Given the description of an element on the screen output the (x, y) to click on. 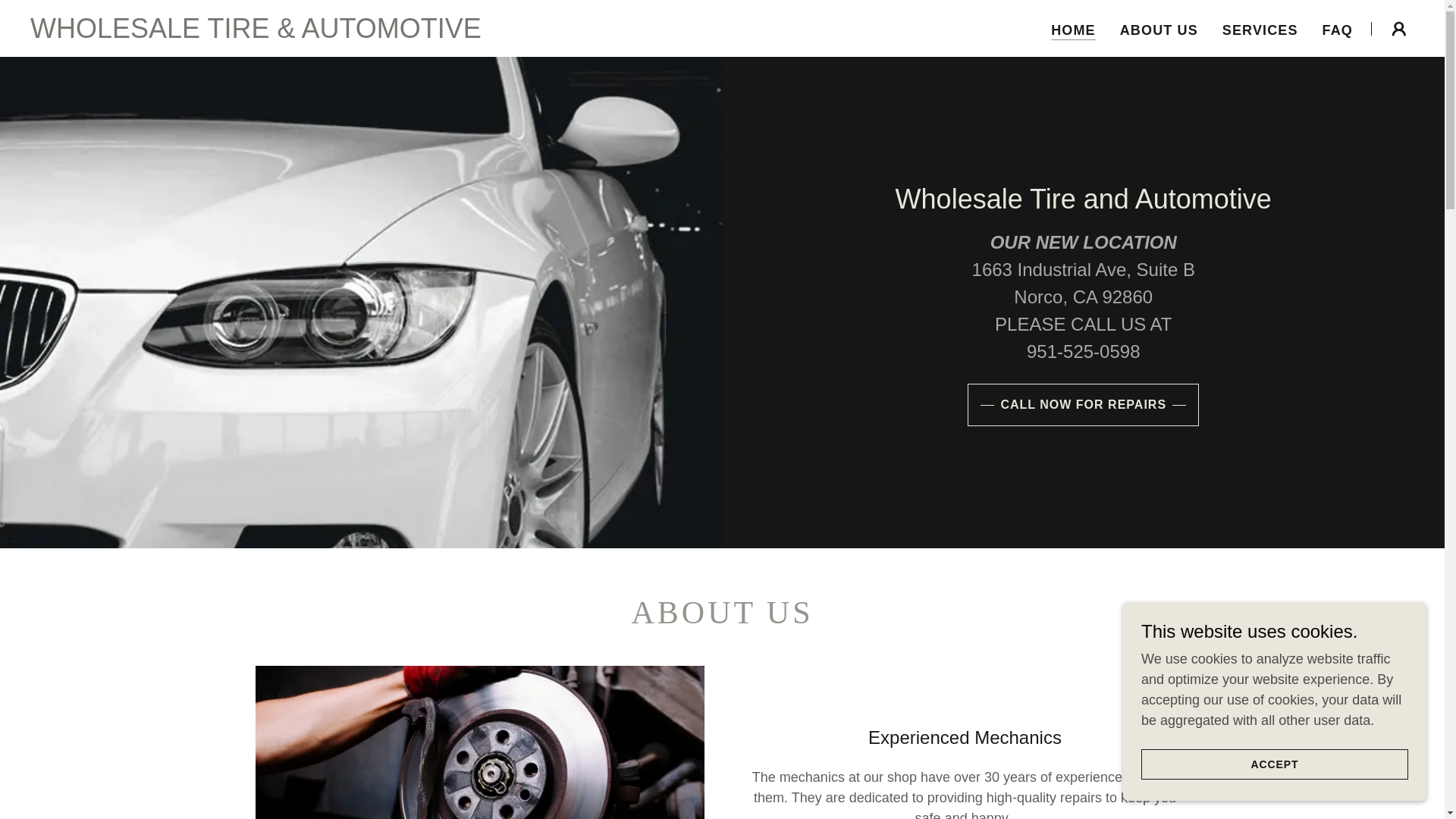
HOME (1073, 30)
CALL NOW FOR REPAIRS (1083, 404)
FAQ (1336, 30)
ACCEPT (1274, 764)
ABOUT US (1158, 30)
SERVICES (1260, 30)
